Given the description of an element on the screen output the (x, y) to click on. 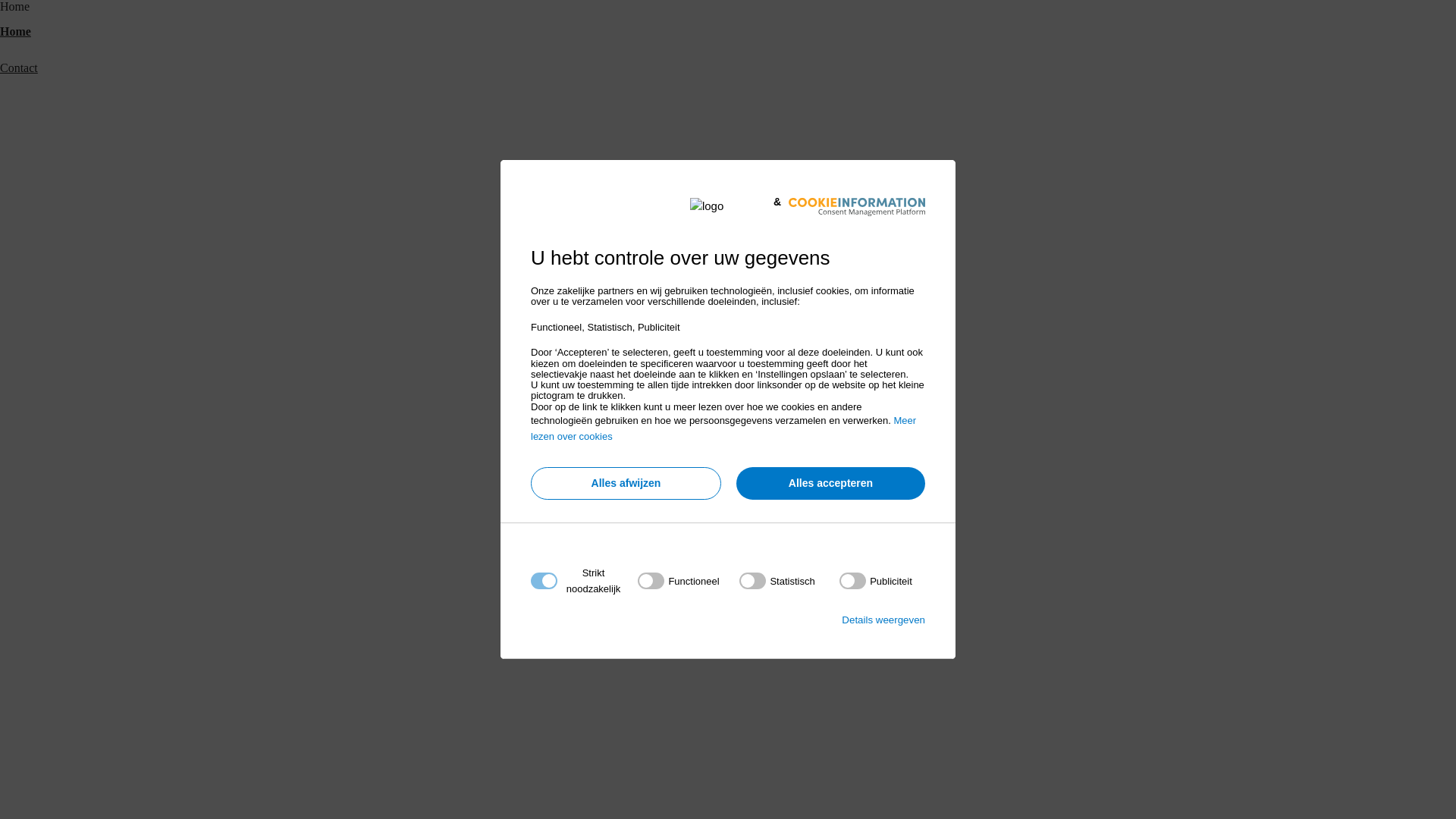
Alles afwijzen Element type: text (625, 483)
Details weergeven Element type: text (883, 619)
on Element type: text (875, 580)
on Element type: text (776, 580)
Alles accepteren Element type: text (830, 483)
Meer lezen over cookies Element type: text (723, 428)
Home Element type: text (15, 31)
Contact Element type: text (18, 67)
on Element type: text (677, 580)
Strikt noodzakelijk Element type: text (723, 673)
Functioneel Element type: text (723, 763)
